Given the description of an element on the screen output the (x, y) to click on. 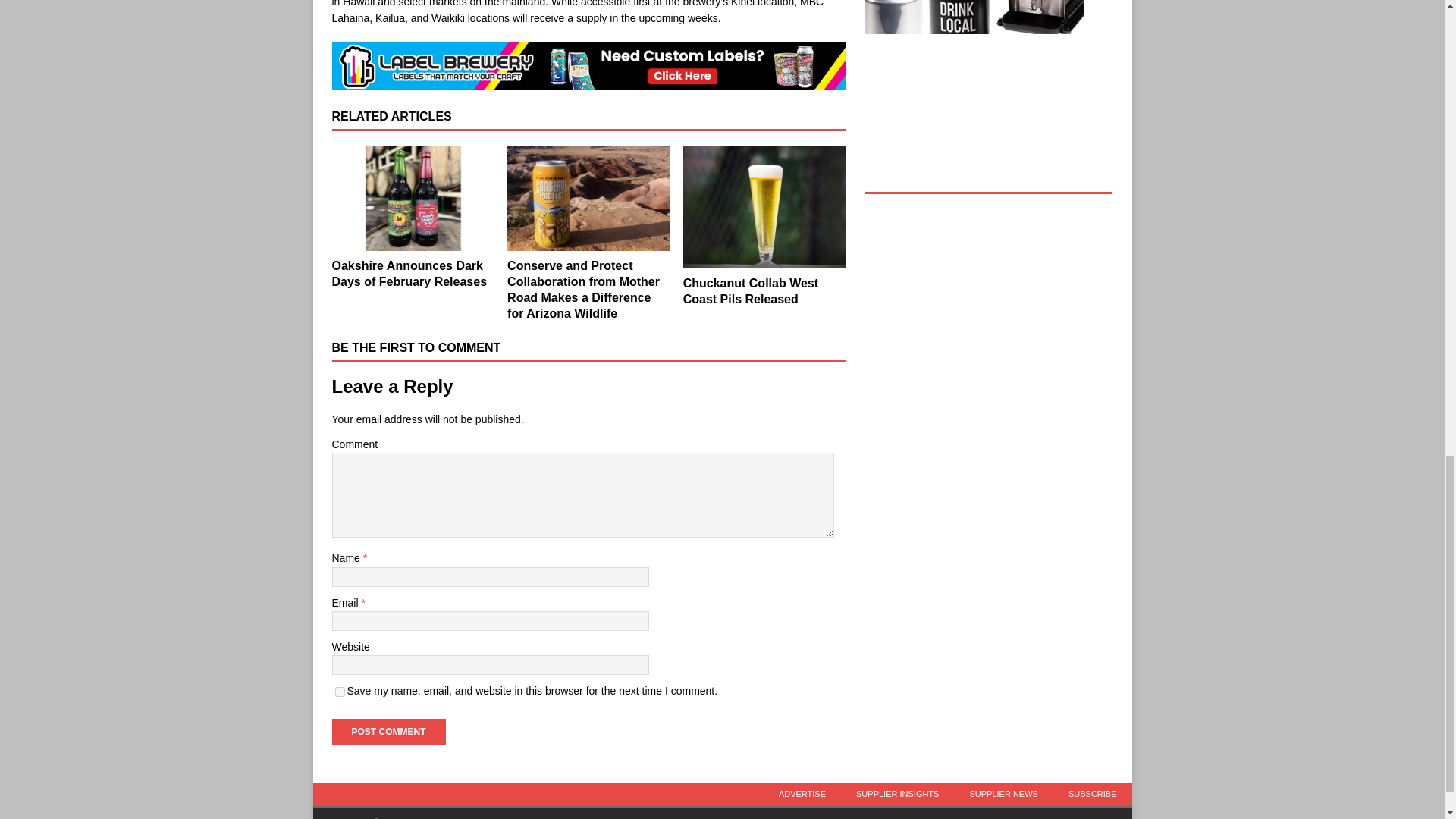
Oakshire Announces Dark Days of February Releases (409, 273)
Post Comment (388, 731)
Chuckanut Collab West Coast Pils Released (763, 206)
yes (339, 691)
Chuckanut Collab West Coast Pils Released (750, 290)
Post Comment (388, 731)
Oakshire Announces Dark Days of February Releases (413, 197)
Chuckanut Collab West Coast Pils Released (750, 290)
